Given the description of an element on the screen output the (x, y) to click on. 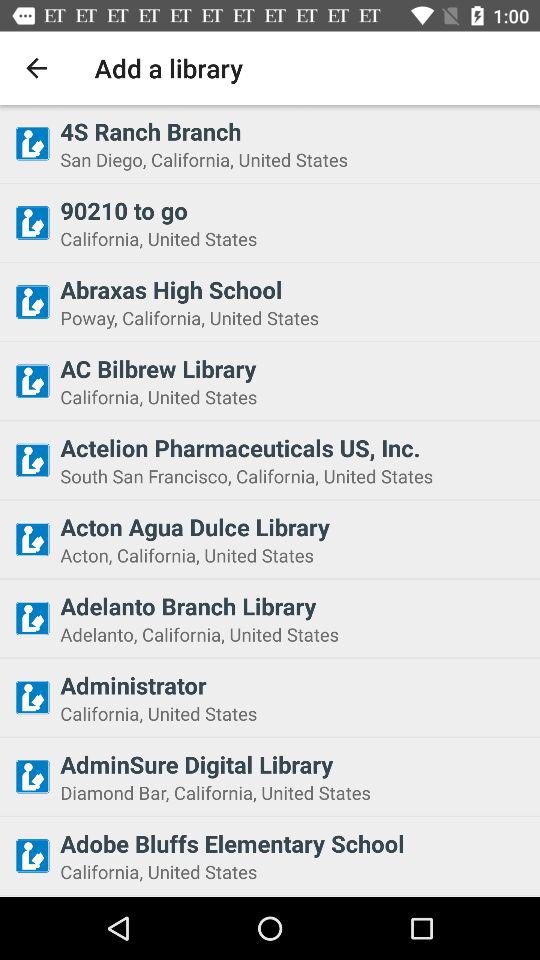
click 4s ranch branch icon (294, 131)
